Given the description of an element on the screen output the (x, y) to click on. 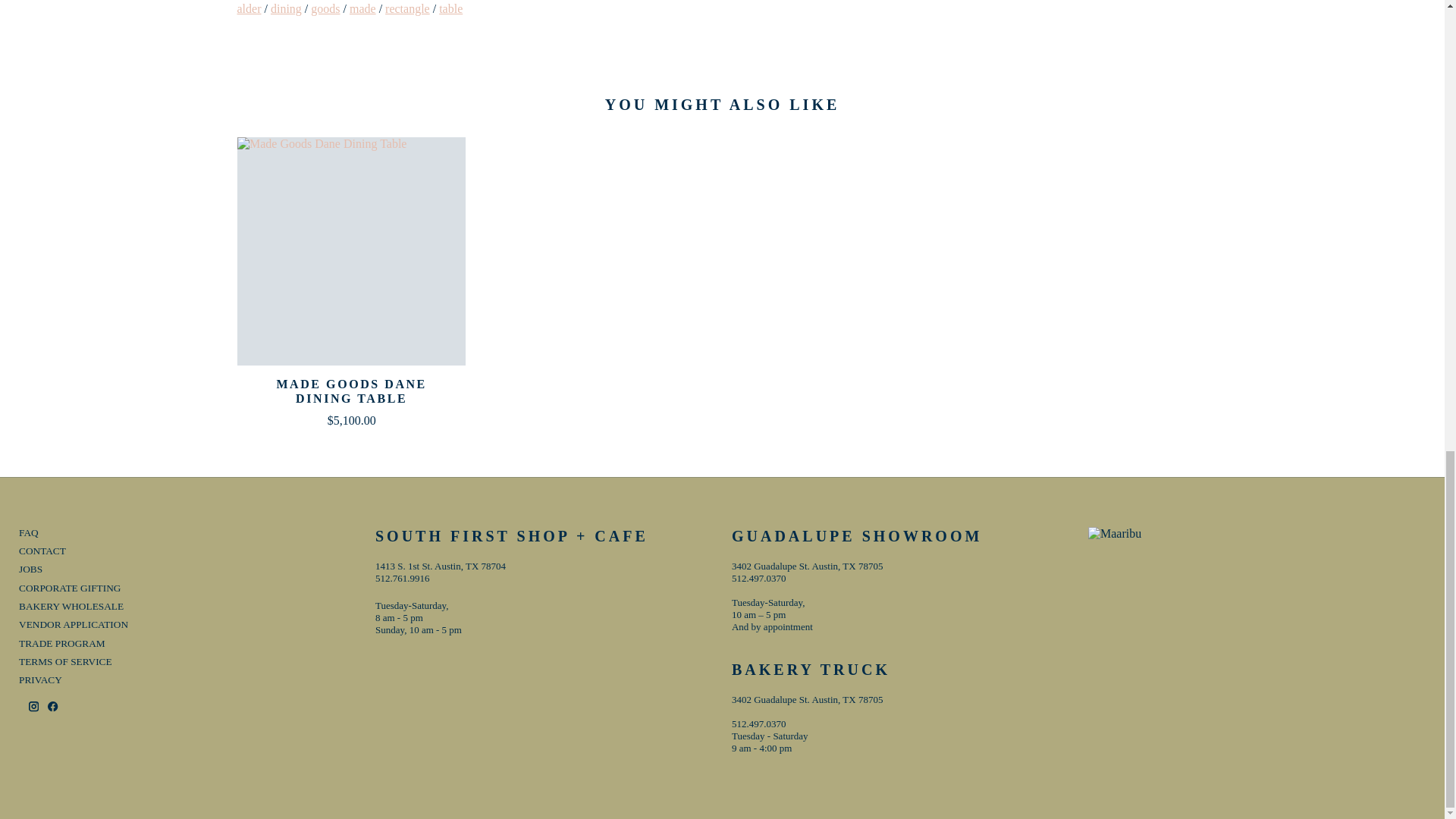
alder (247, 8)
dining (285, 8)
rectangle (407, 8)
goods (325, 8)
Made Goods Dane Dining Table (349, 251)
made (362, 8)
table (451, 8)
